Given the description of an element on the screen output the (x, y) to click on. 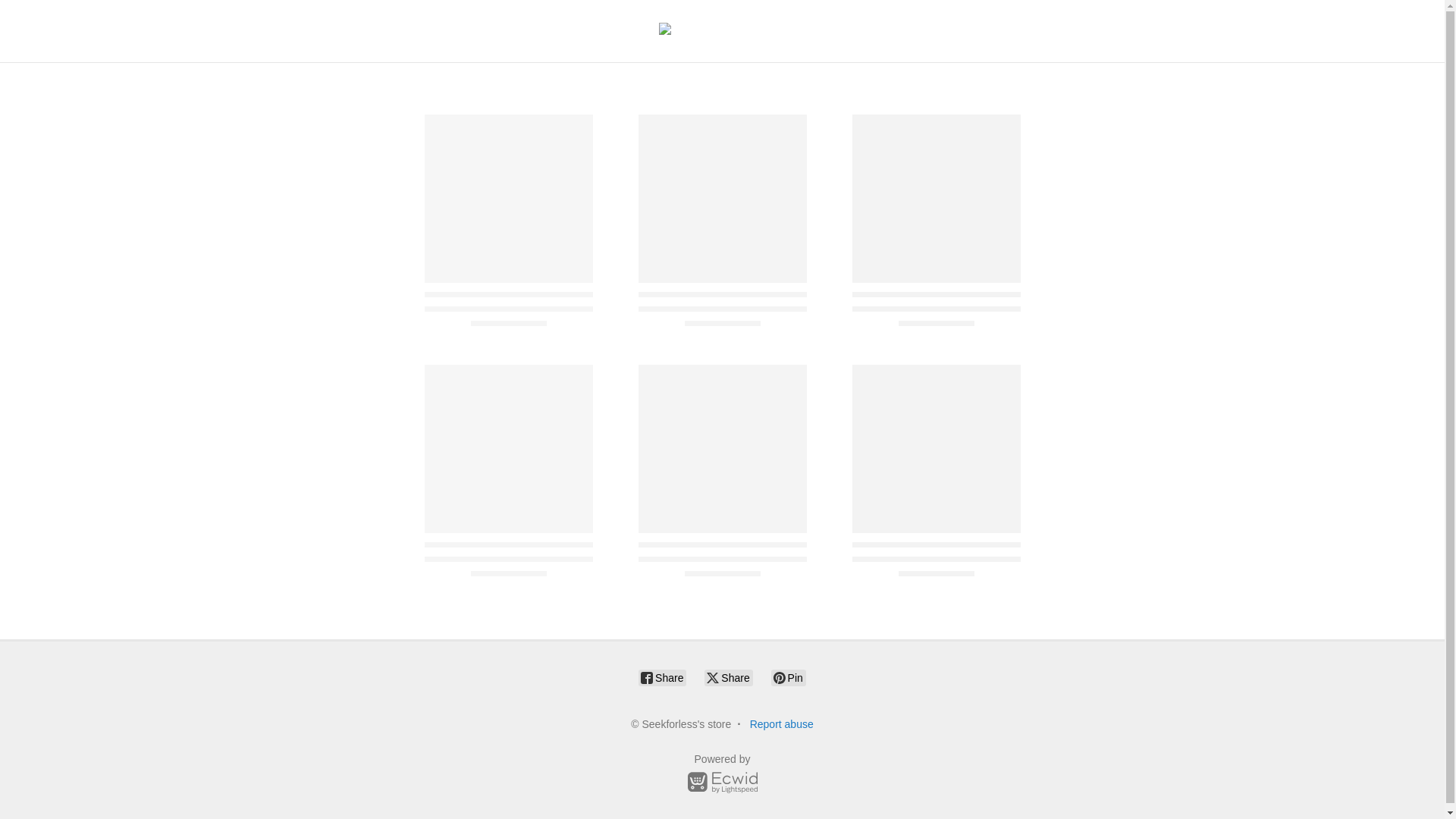
Report abuse (781, 724)
Powered by (722, 776)
Share (662, 677)
Share (728, 677)
Pin (788, 677)
